Given the description of an element on the screen output the (x, y) to click on. 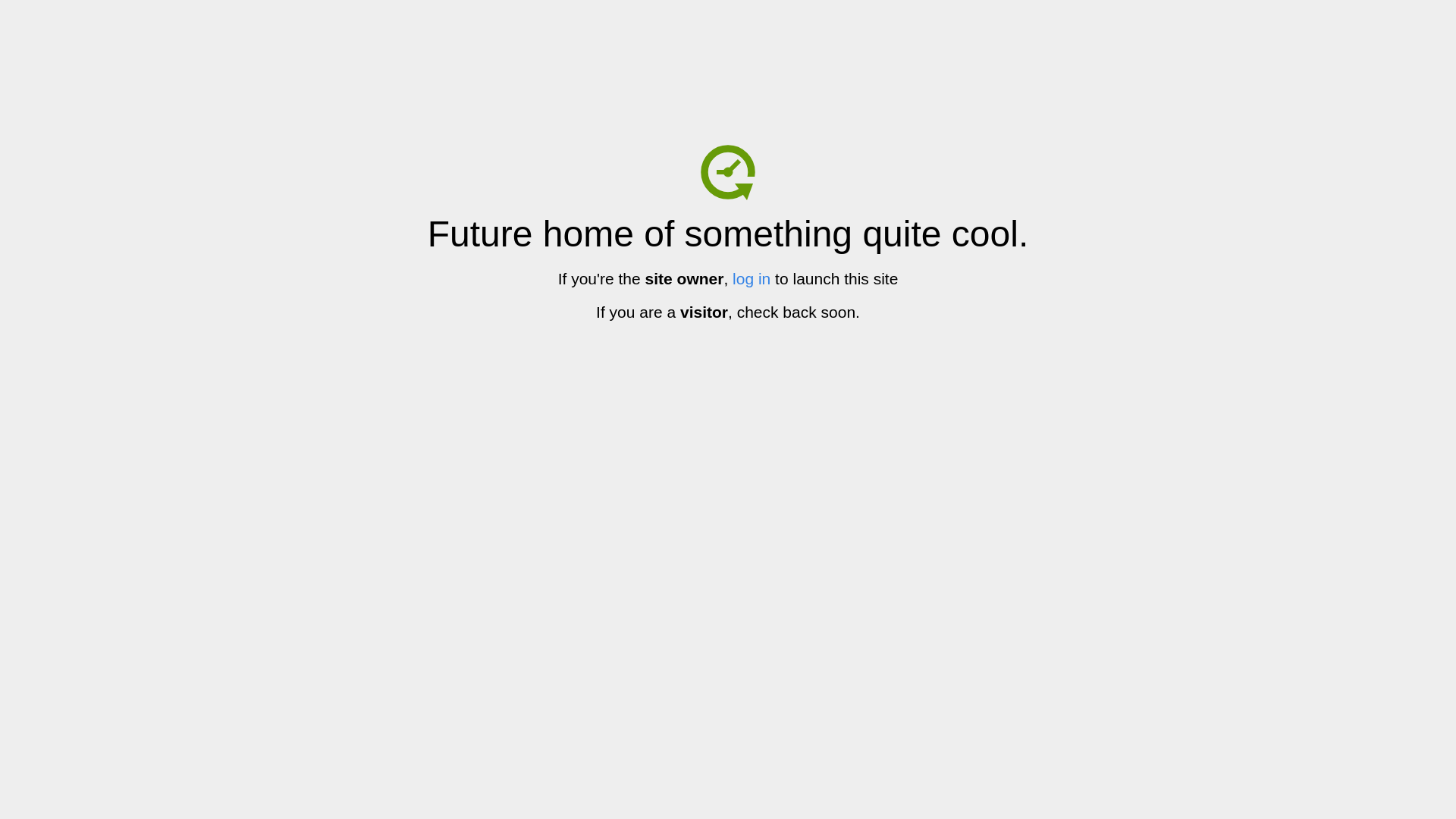
log in Element type: text (751, 278)
